Given the description of an element on the screen output the (x, y) to click on. 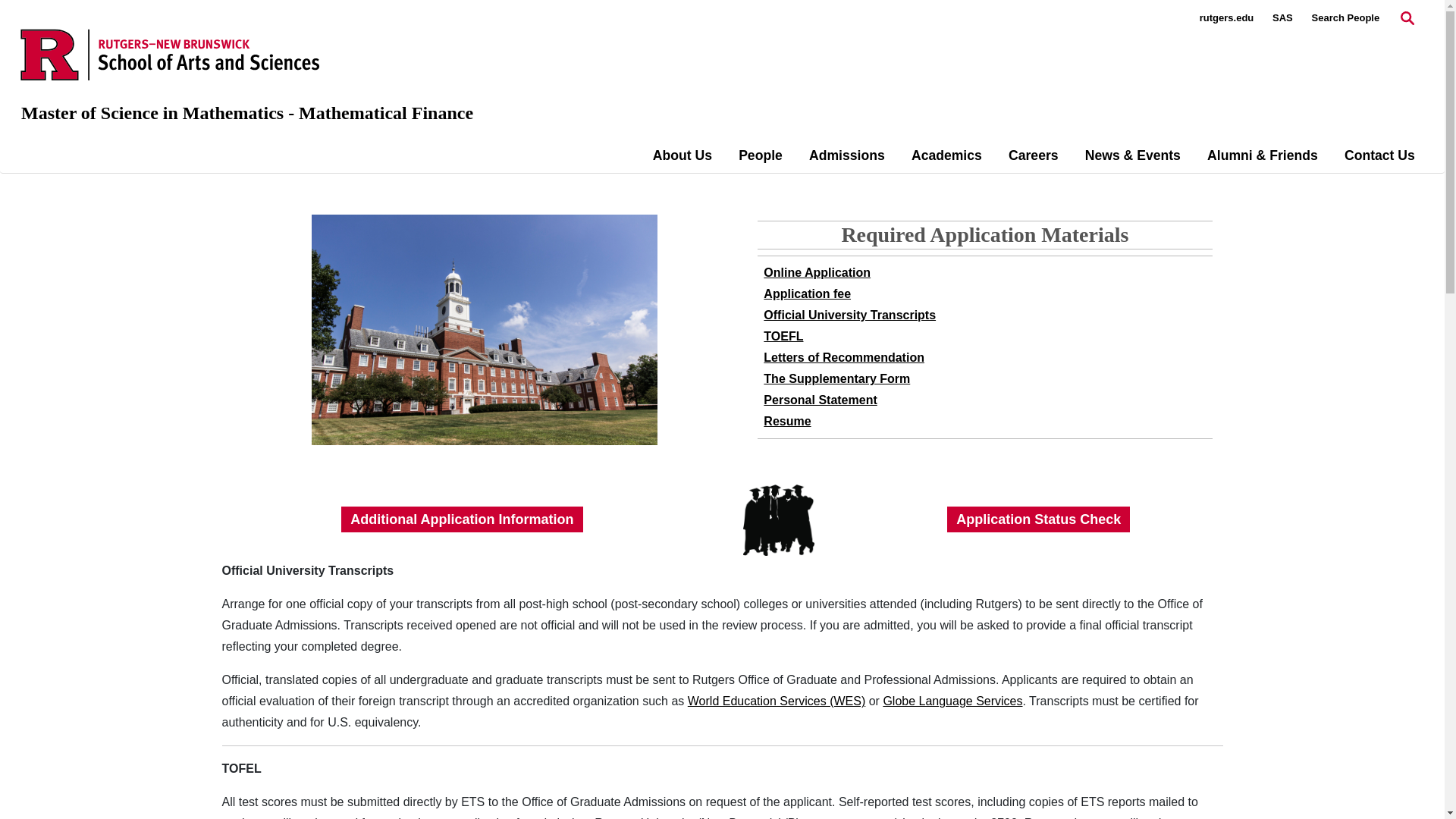
Master of Science in Mathematics - Mathematical Finance (247, 112)
Admissions (847, 155)
Careers (1033, 155)
rutgers.edu (1226, 17)
Search People (1345, 17)
Academics (946, 155)
People (760, 155)
About Us (681, 155)
